Given the description of an element on the screen output the (x, y) to click on. 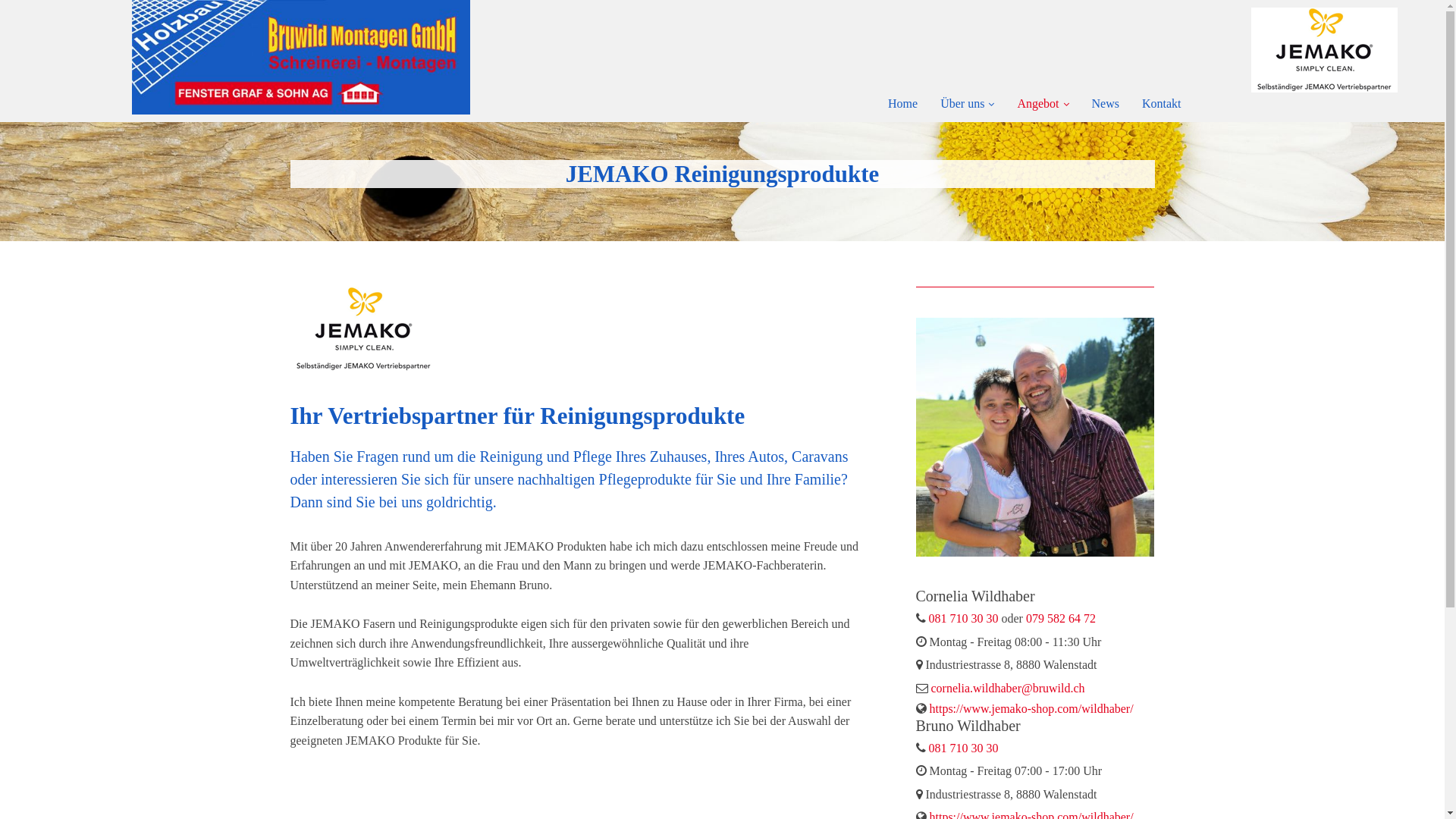
https://www.jemako-shop.com/wildhaber/ Element type: text (1031, 708)
079 582 64 72 Element type: text (1060, 617)
cornelia.wildhaber@bruwild.ch Element type: text (1008, 687)
News Element type: text (1105, 103)
Kontakt Element type: text (1161, 103)
Home Element type: text (902, 103)
081 710 30 30 Element type: text (962, 617)
Angebot Element type: text (1042, 103)
081 710 30 30 Element type: text (962, 747)
